Given the description of an element on the screen output the (x, y) to click on. 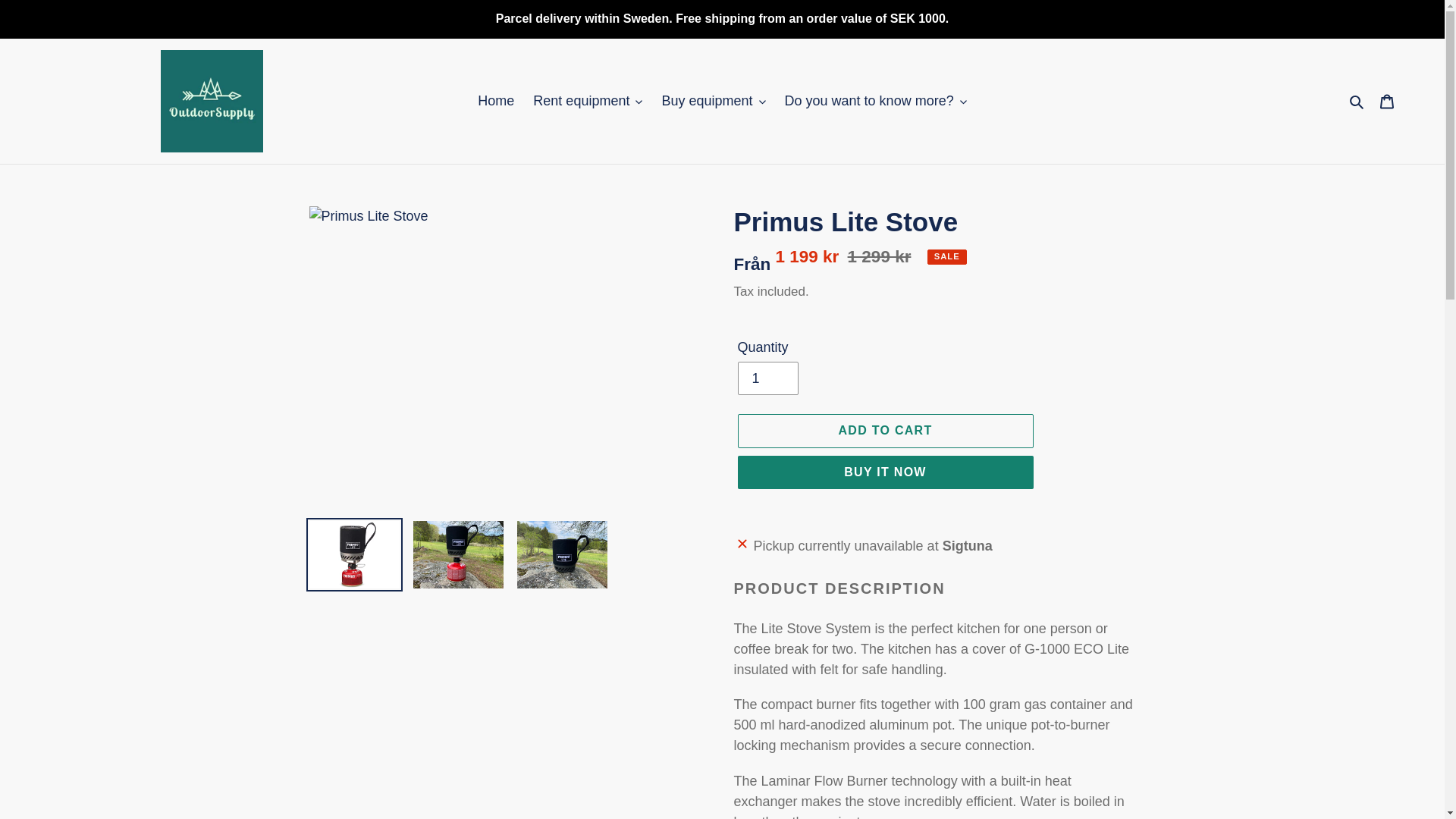
Cart (1387, 100)
Home (495, 100)
Do you want to know more? (875, 100)
Search (1357, 101)
1 (766, 377)
Rent equipment (587, 100)
Buy equipment (713, 100)
